Given the description of an element on the screen output the (x, y) to click on. 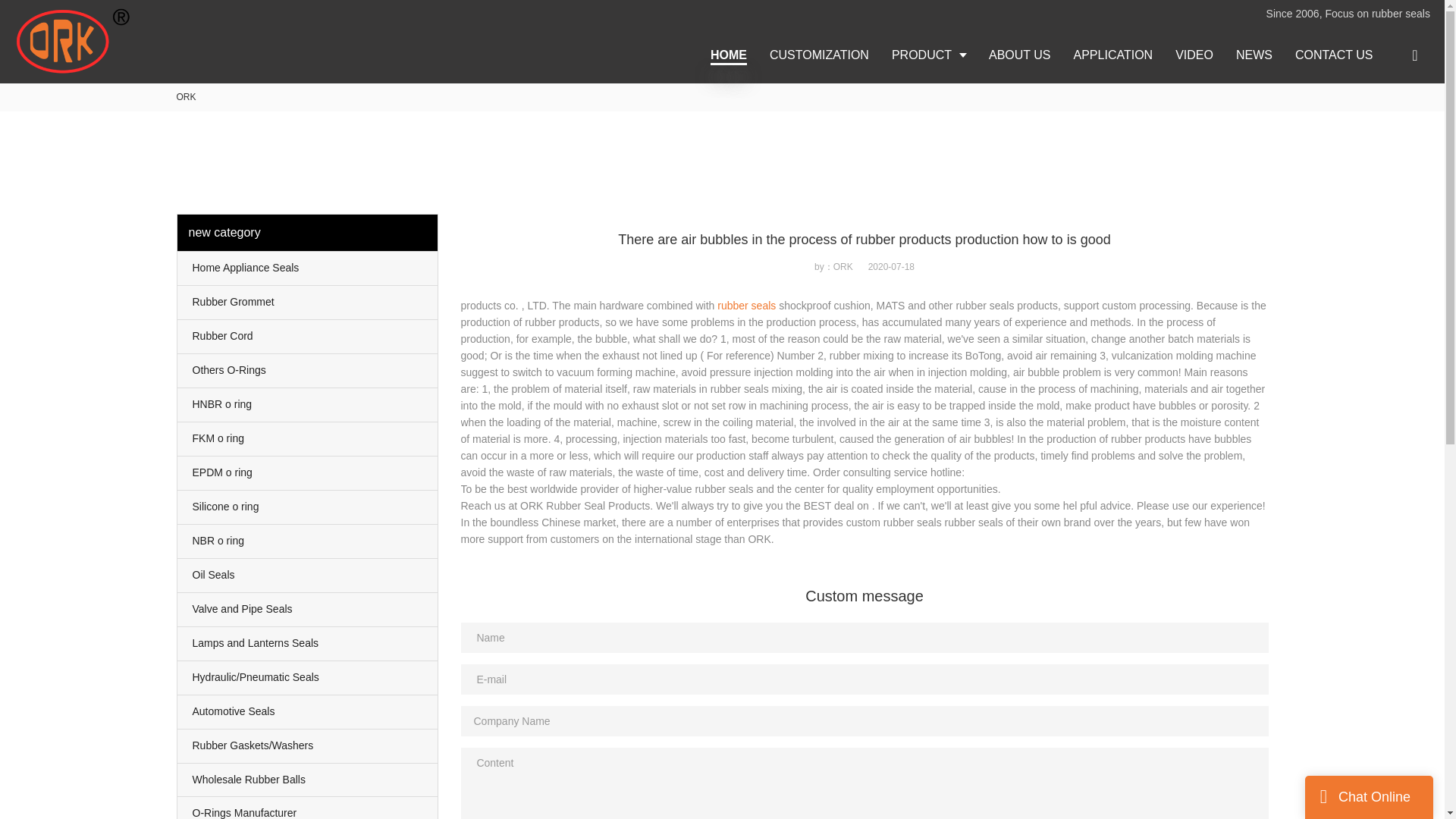
Home Appliance Seals (307, 268)
FKM o ring (307, 438)
Oil Seals (307, 575)
ORK (185, 96)
Others O-Rings (307, 370)
HOME (728, 55)
EPDM o ring (307, 472)
O-Rings Manufacturer (307, 807)
APPLICATION (1113, 55)
NEWS (1254, 55)
CONTACT US (1334, 55)
ABOUT US (1019, 55)
Lamps and Lanterns Seals (307, 643)
Valve and Pipe Seals (307, 609)
NBR o ring (307, 540)
